Given the description of an element on the screen output the (x, y) to click on. 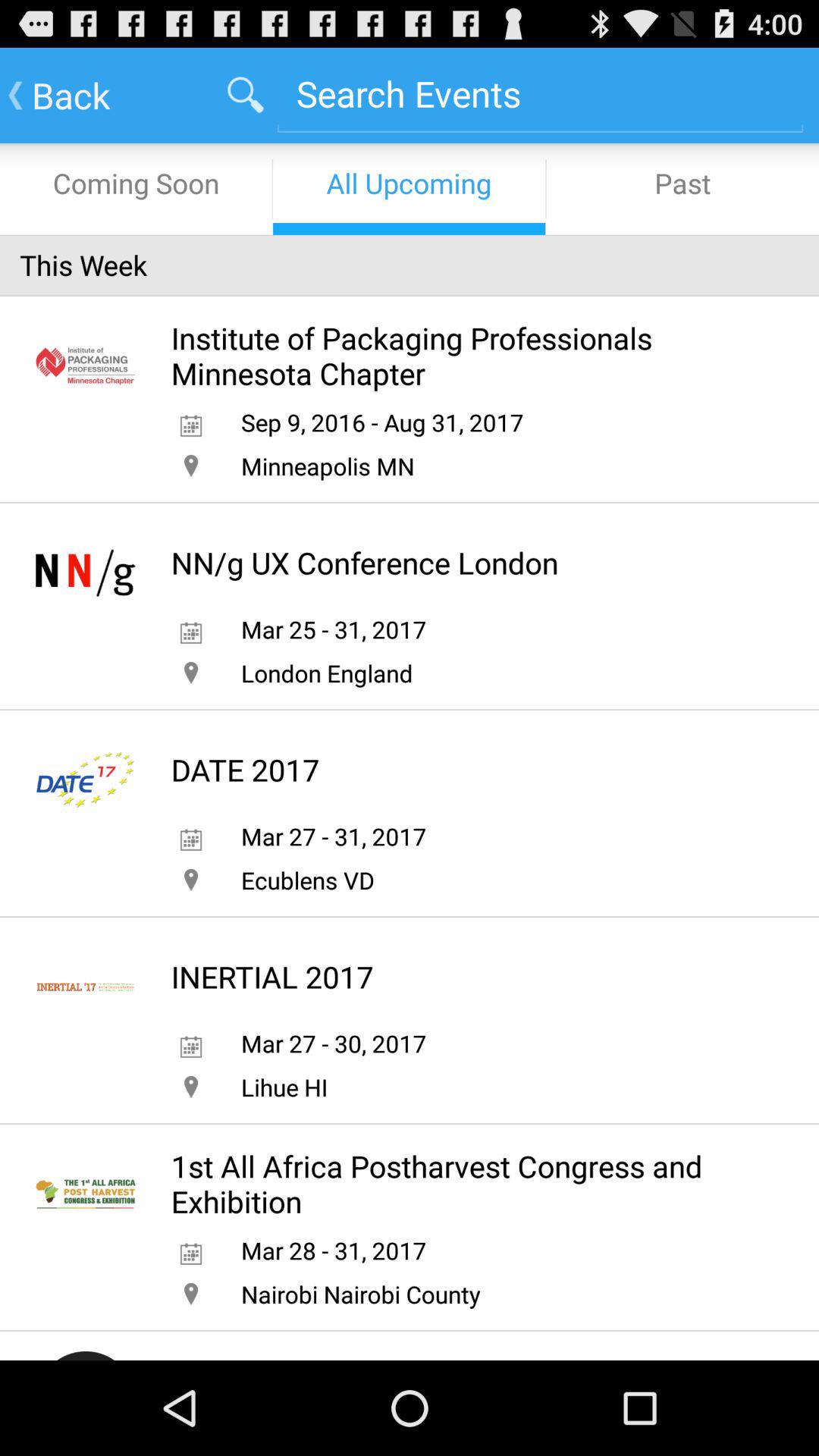
swipe until 1st all africa icon (463, 1183)
